Given the description of an element on the screen output the (x, y) to click on. 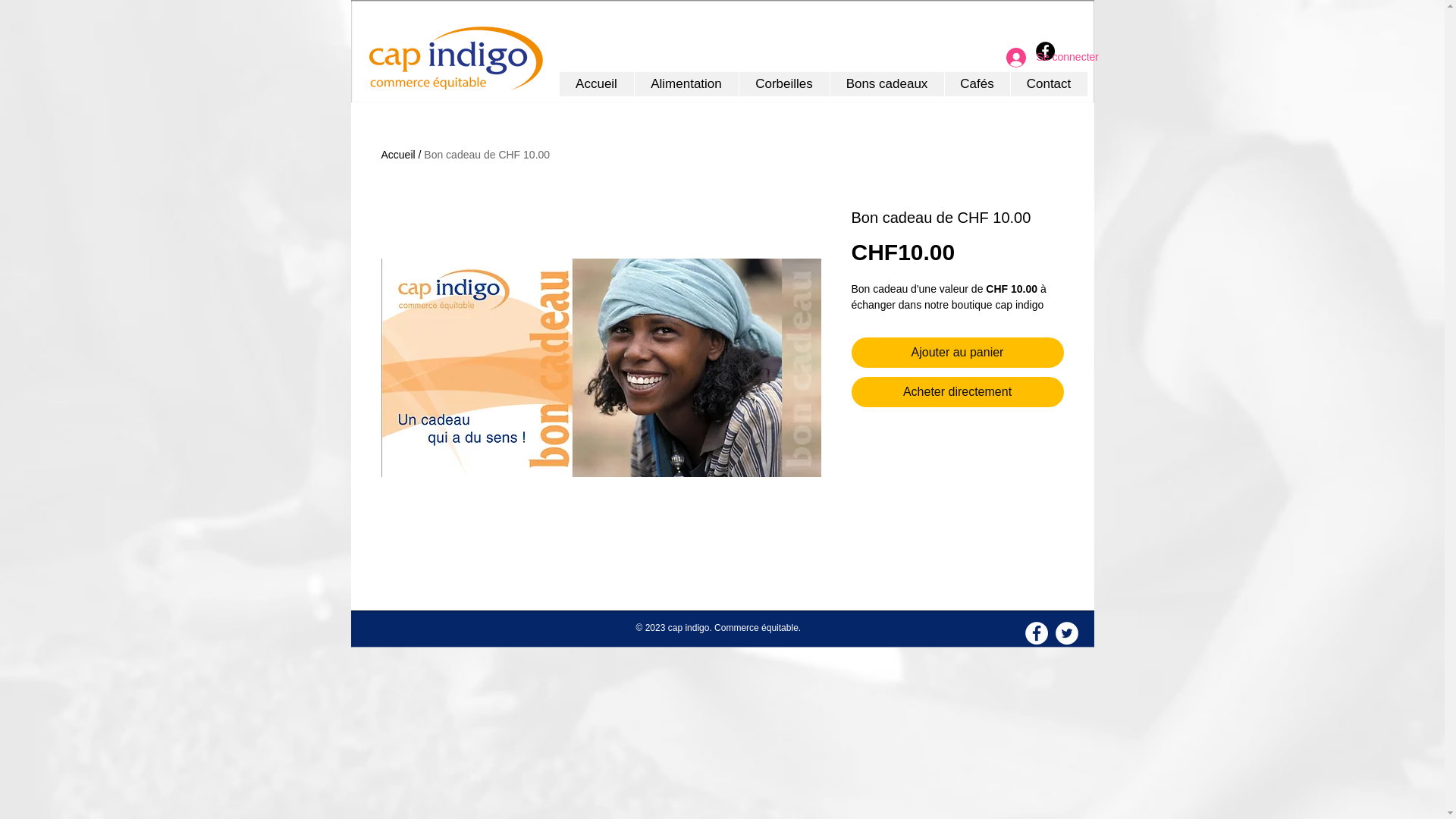
Accueil Element type: text (596, 84)
Ajouter au panier Element type: text (956, 352)
Alimentation Element type: text (685, 84)
Acheter directement Element type: text (956, 391)
Contact Element type: text (1048, 84)
Accueil Element type: text (397, 154)
Bons cadeaux Element type: text (886, 84)
Se connecter Element type: text (1039, 57)
Corbeilles Element type: text (783, 84)
